Given the description of an element on the screen output the (x, y) to click on. 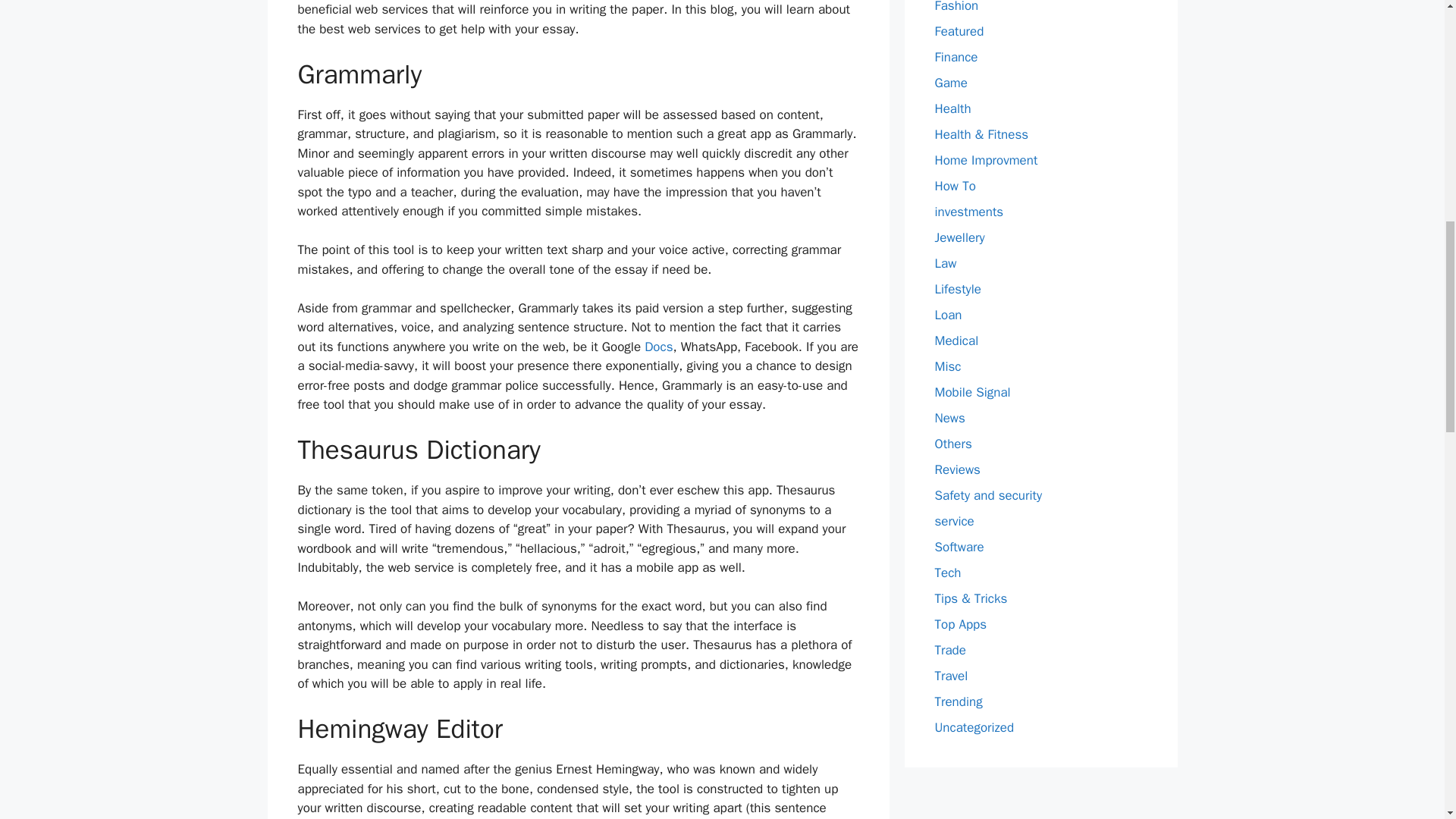
Docs (658, 346)
